Given the description of an element on the screen output the (x, y) to click on. 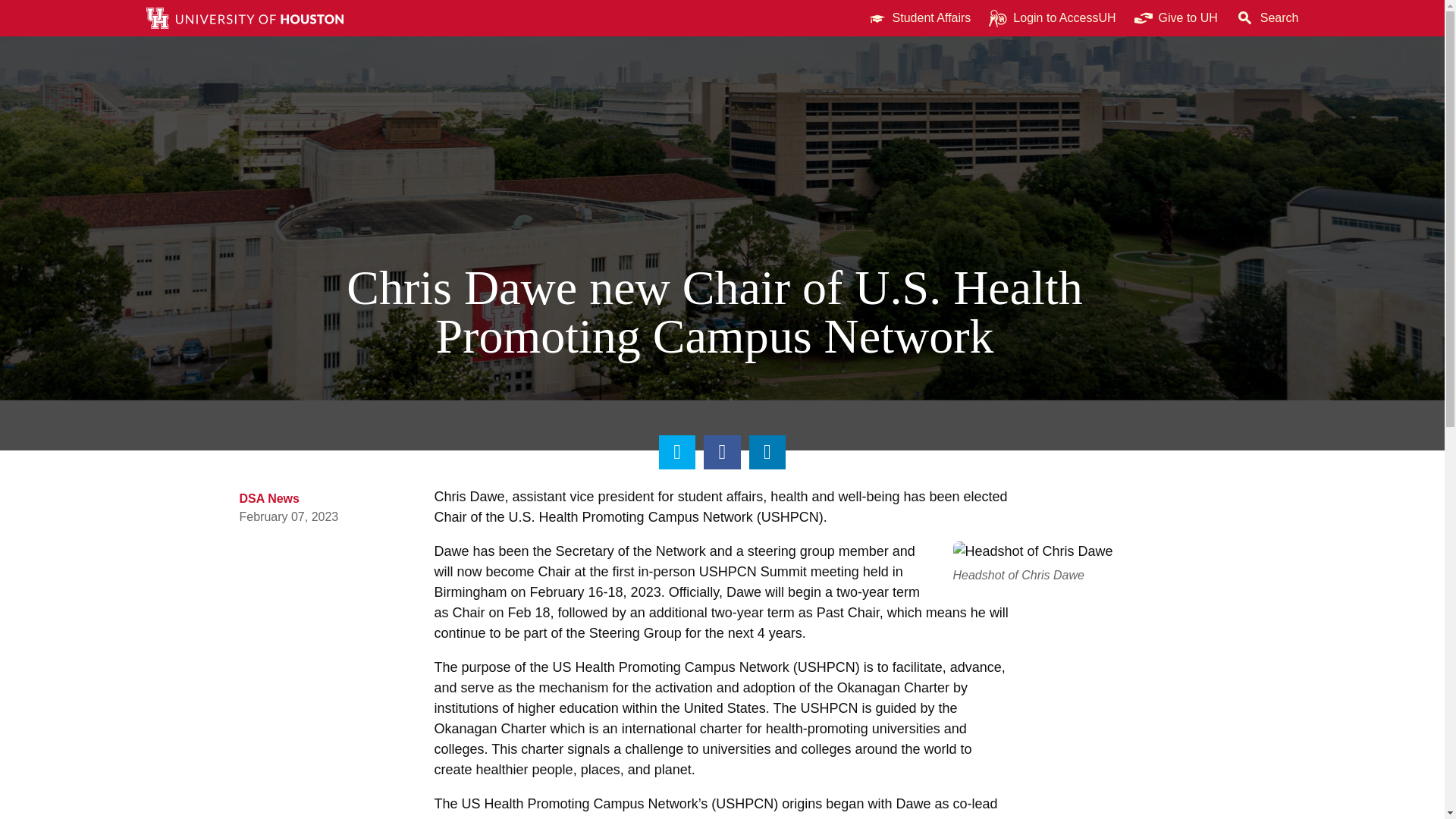
Student Affairs (919, 18)
Login to AccessUH (1051, 18)
Search (1267, 18)
Give to UH (1176, 18)
DSA News (269, 535)
